Given the description of an element on the screen output the (x, y) to click on. 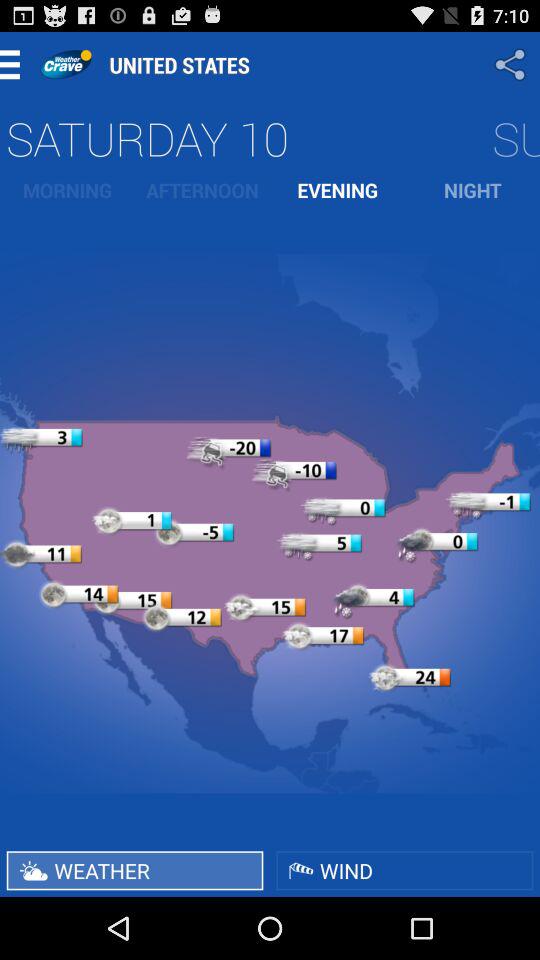
press the item next to the weather button (404, 870)
